Given the description of an element on the screen output the (x, y) to click on. 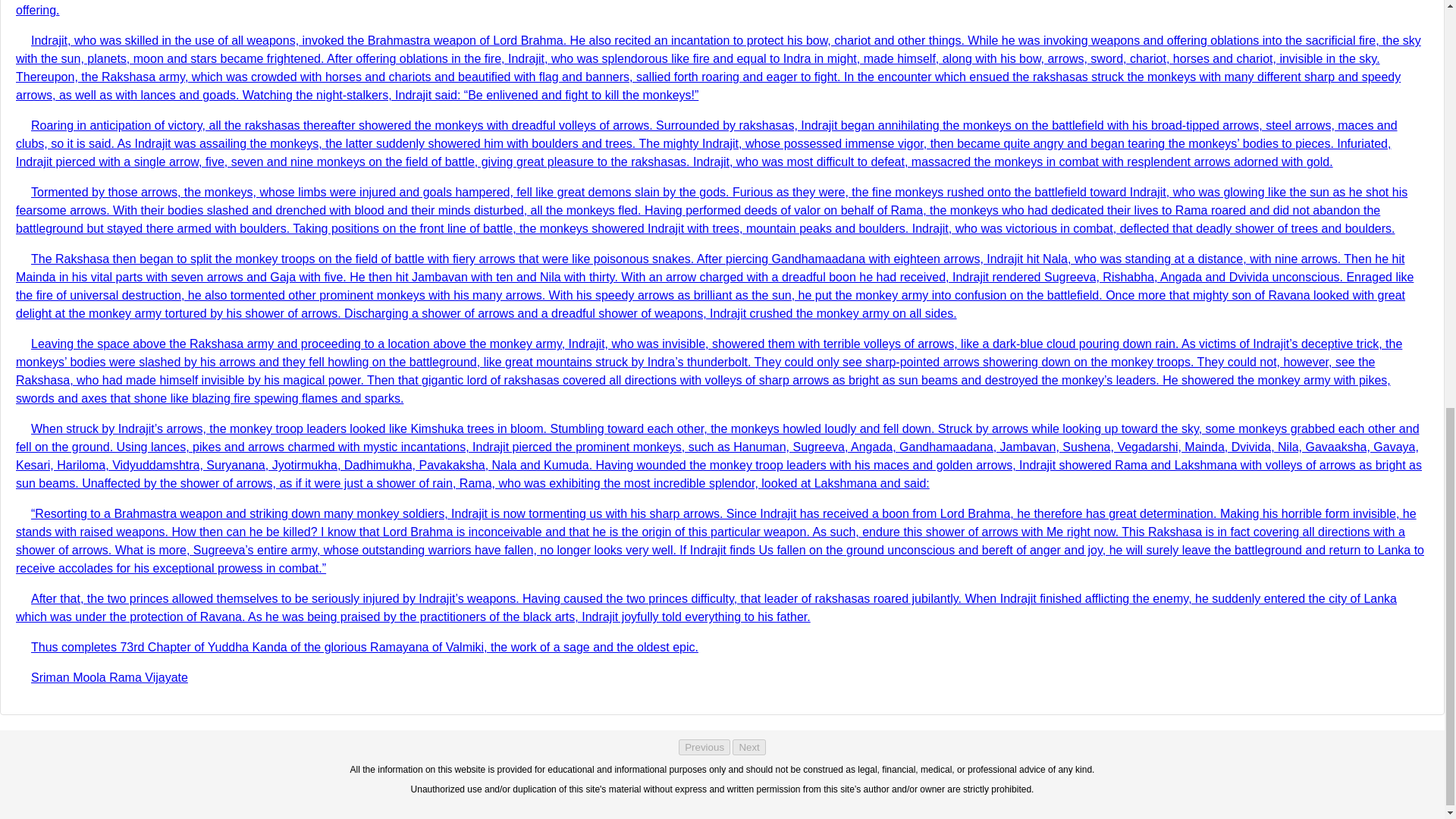
Previous (704, 747)
Next (748, 747)
